Given the description of an element on the screen output the (x, y) to click on. 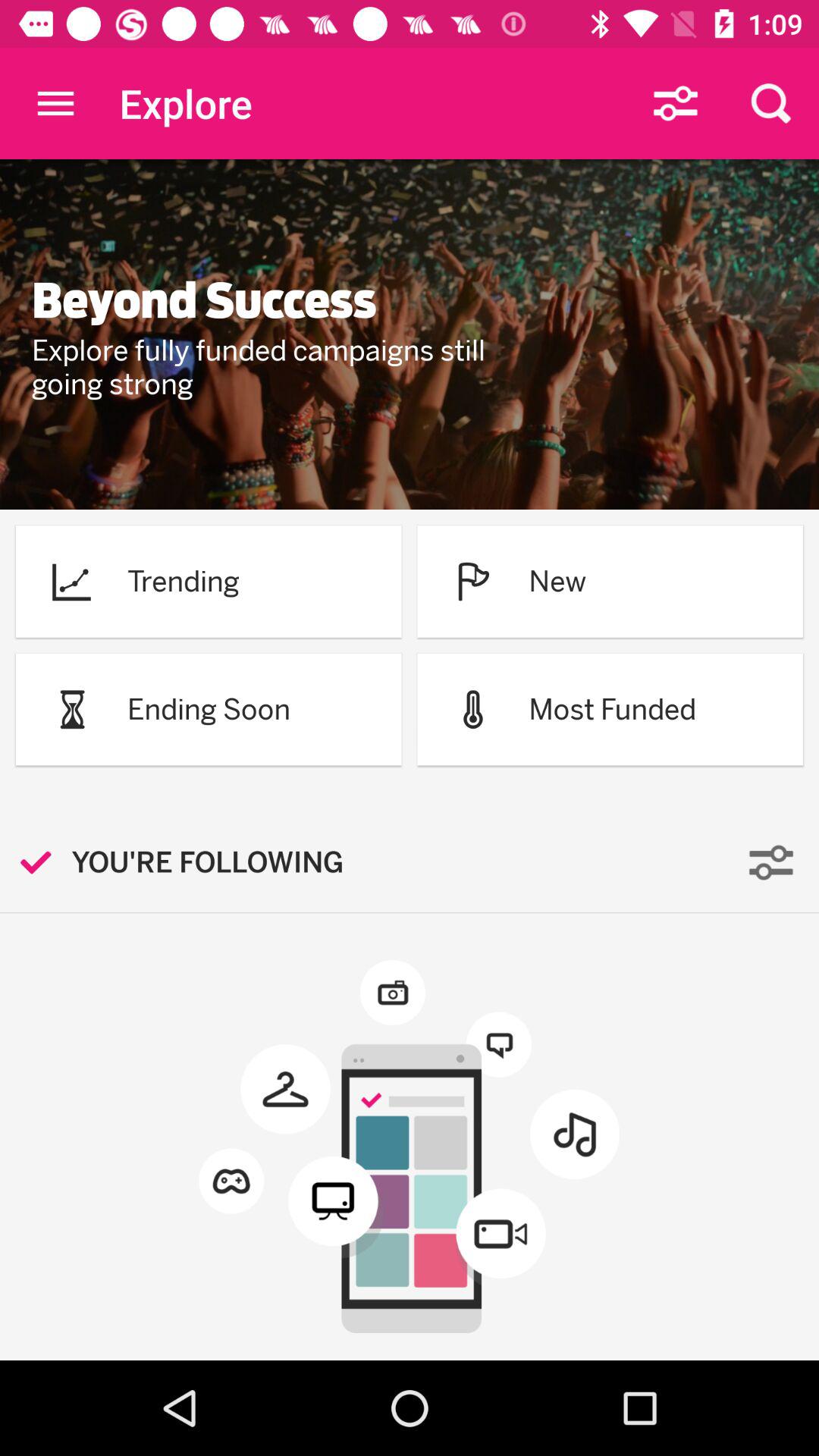
tap icon to the left of the trending icon (71, 581)
